Given the description of an element on the screen output the (x, y) to click on. 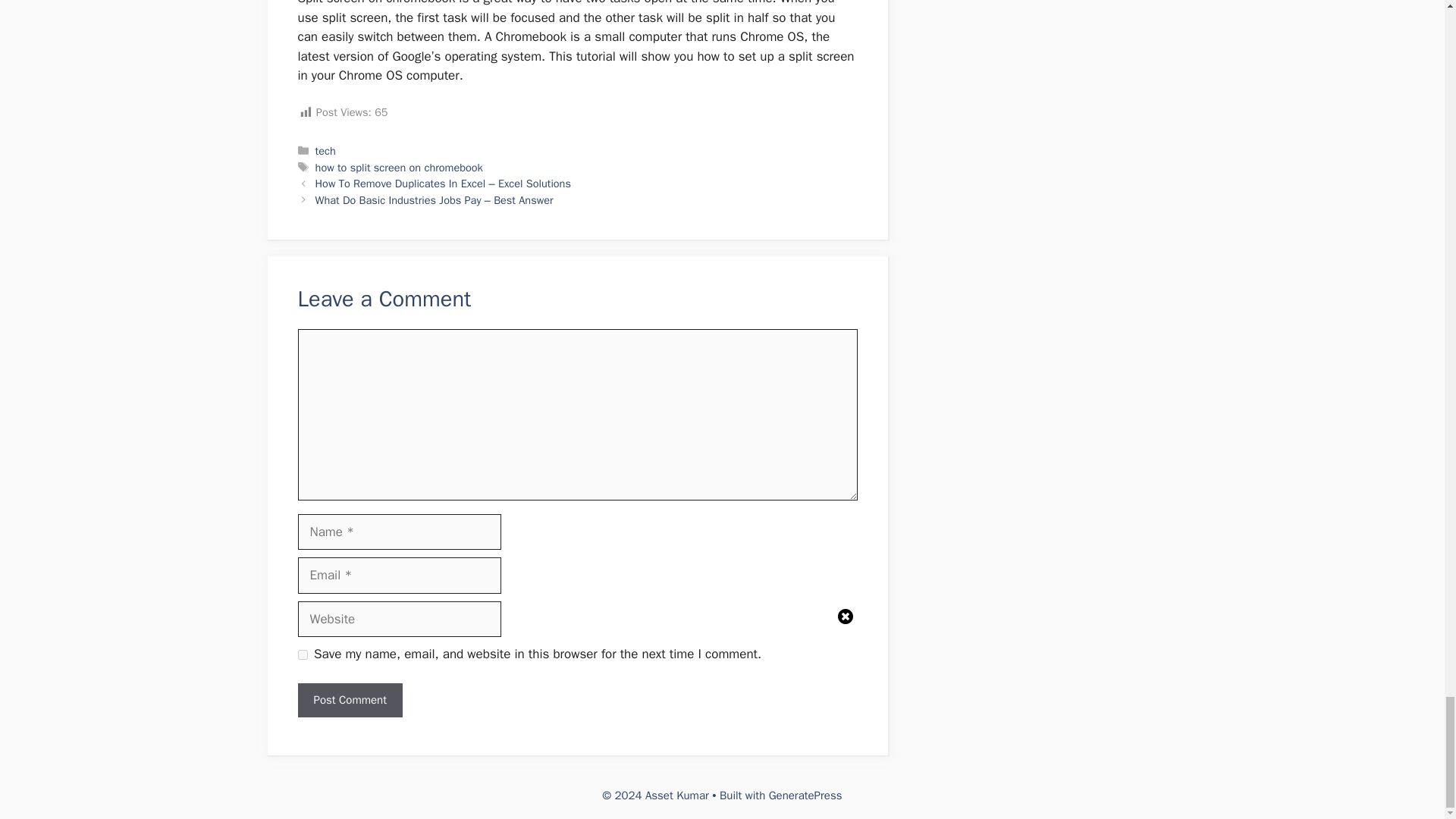
yes (302, 655)
Post Comment (349, 700)
GeneratePress (805, 795)
how to split screen on chromebook (399, 167)
tech (325, 151)
Post Comment (349, 700)
